Given the description of an element on the screen output the (x, y) to click on. 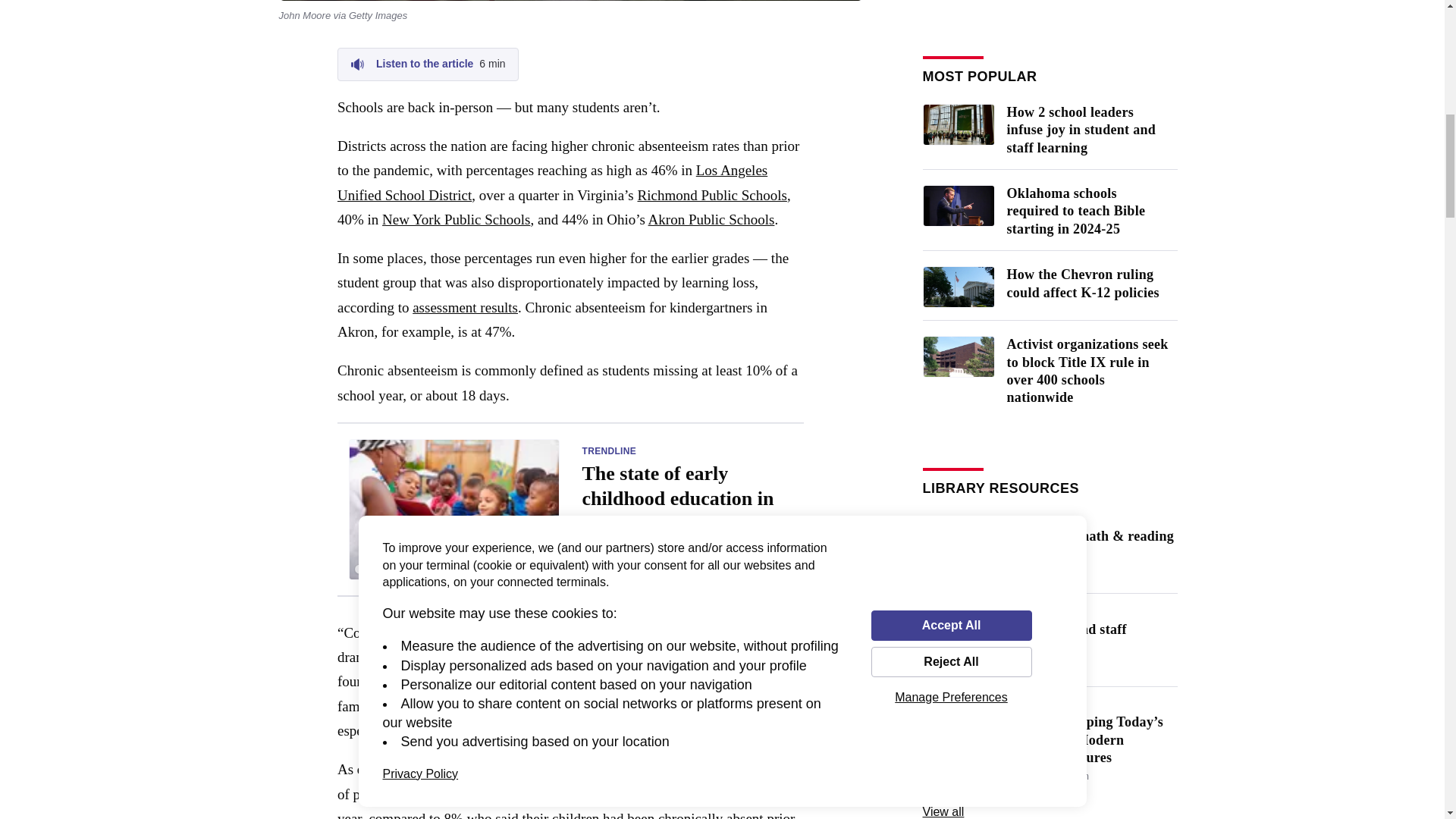
Los Angeles Unified School District (427, 64)
